Given the description of an element on the screen output the (x, y) to click on. 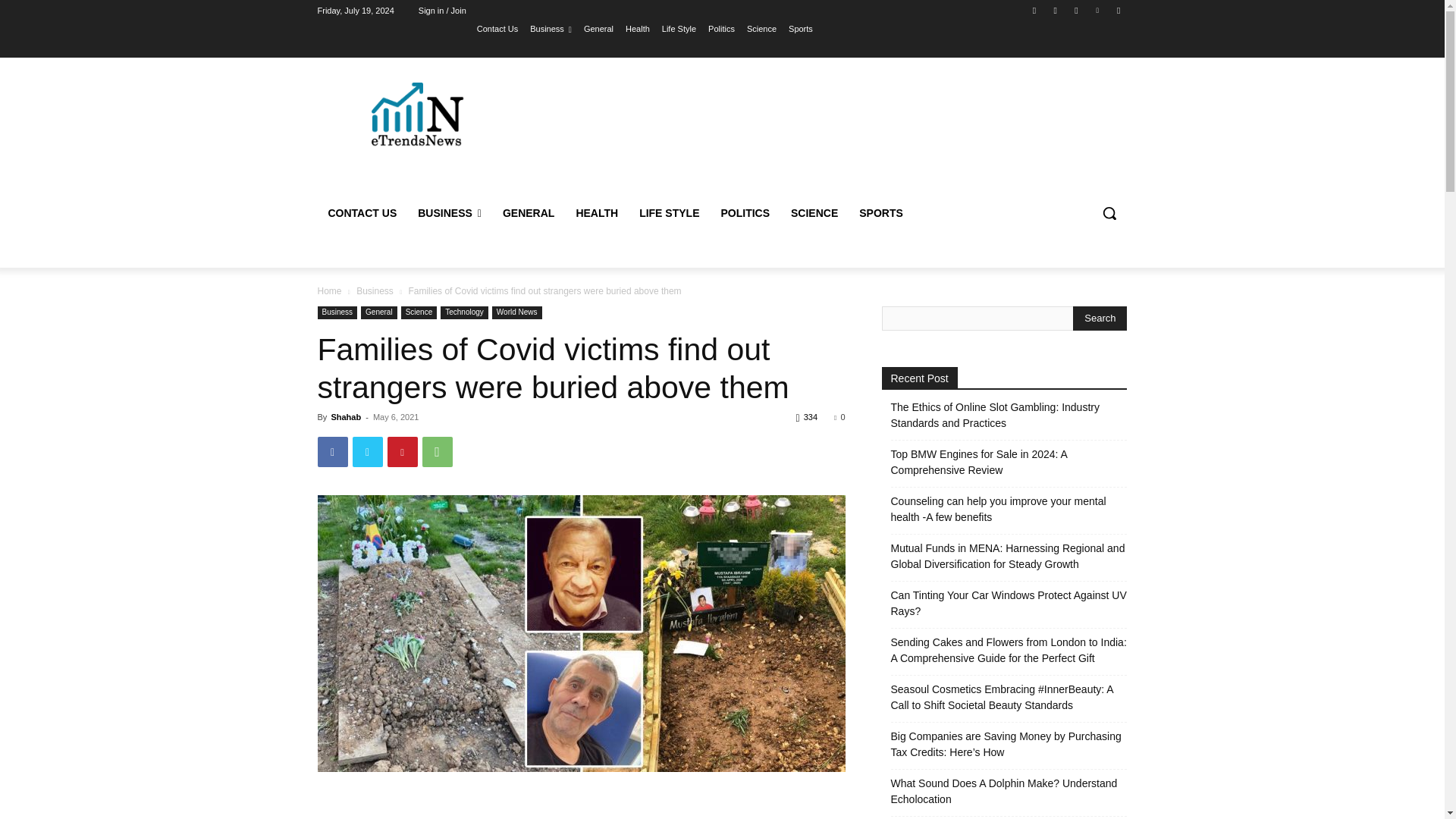
Search (1099, 318)
